Given the description of an element on the screen output the (x, y) to click on. 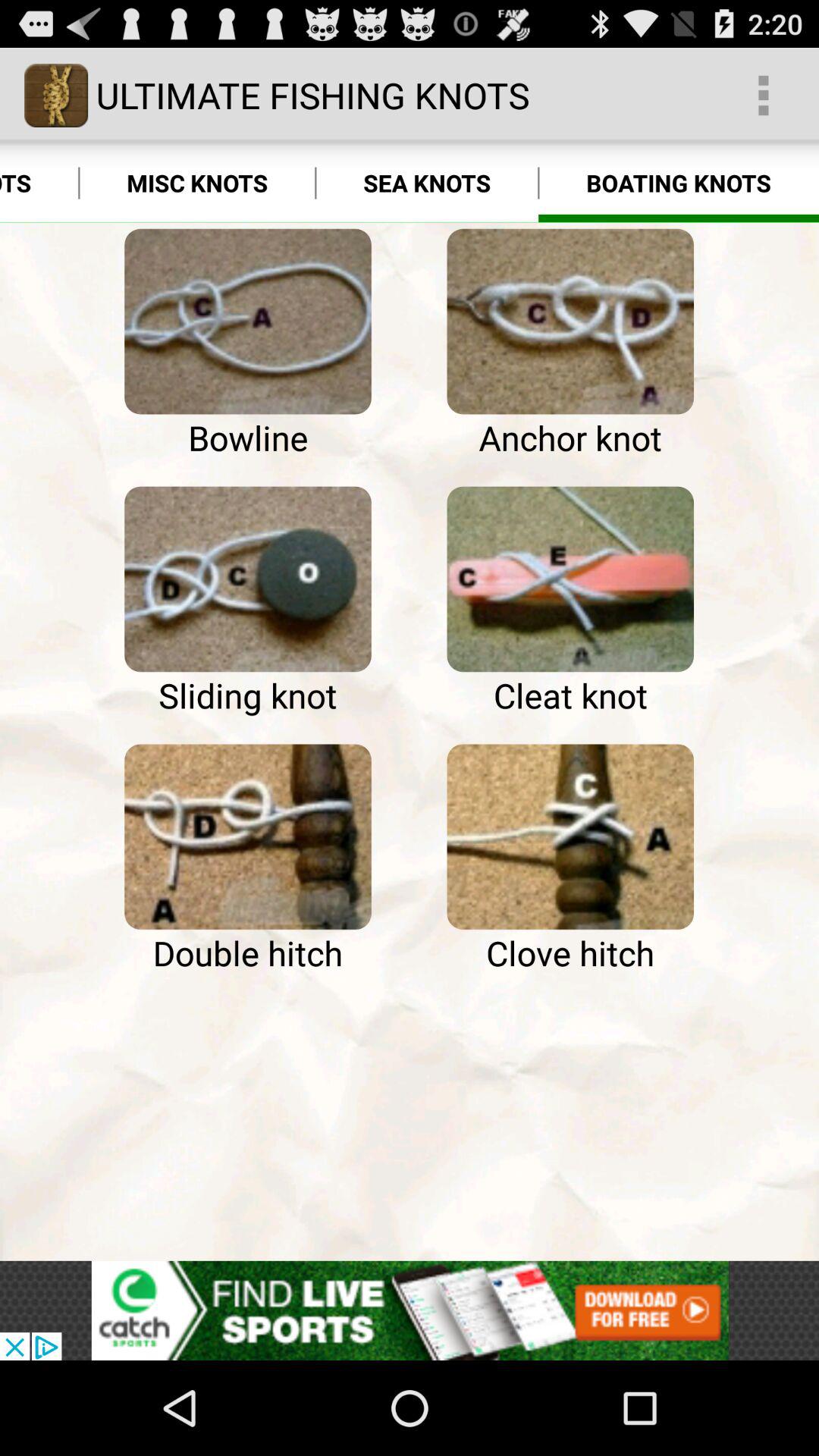
click discriiption (409, 1310)
